Given the description of an element on the screen output the (x, y) to click on. 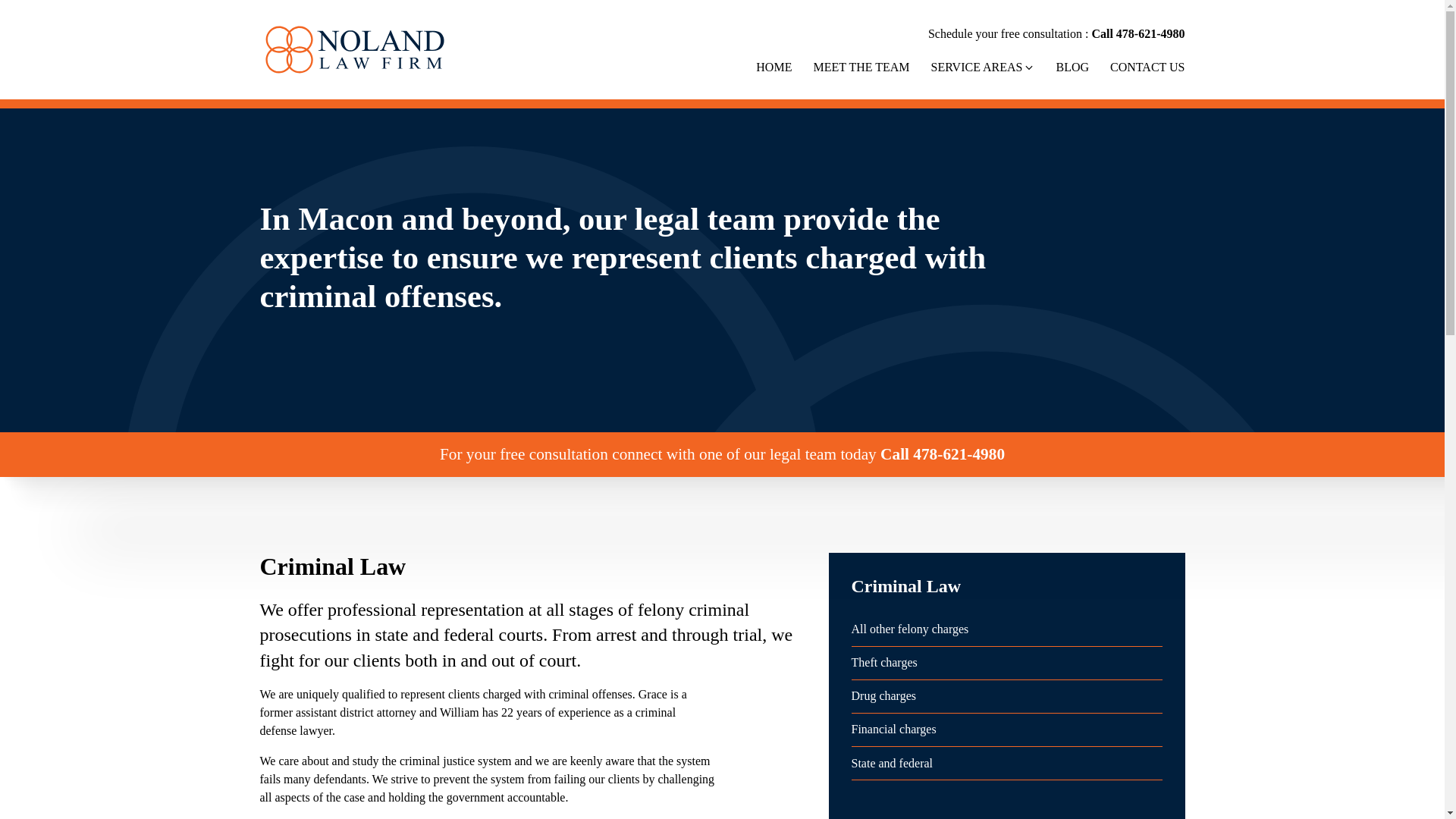
BLOG (1072, 67)
HOME (773, 67)
All other felony charges (1005, 633)
Drug charges (1005, 700)
CONTACT US (1147, 67)
SERVICE AREAS (983, 67)
MEET THE TEAM (860, 67)
State and federal (1005, 767)
Theft charges (1005, 666)
Financial charges (1005, 733)
